Given the description of an element on the screen output the (x, y) to click on. 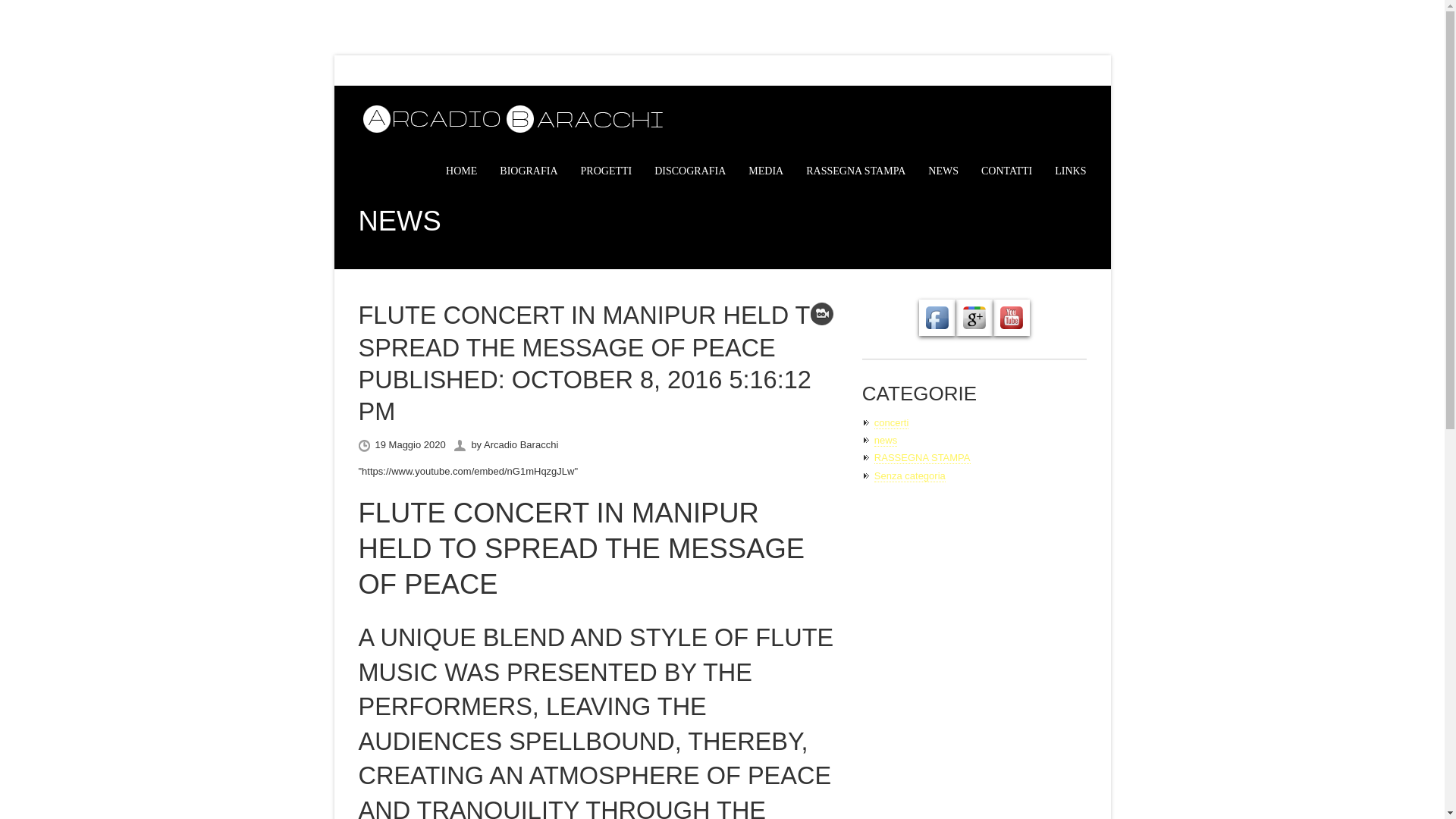
Posts by Arcadio Baracchi (520, 444)
CONTATTI (1006, 170)
MEDIA (765, 170)
RASSEGNA STAMPA (923, 458)
DISCOGRAFIA (689, 170)
concerti (891, 422)
PROGETTI (605, 170)
BIOGRAFIA (528, 170)
Visit Us On Facebook (936, 326)
FLUTE CONCERT IN MANIPUR HELD TO SPREAD THE MESSAGE OF PEACE (581, 548)
